Given the description of an element on the screen output the (x, y) to click on. 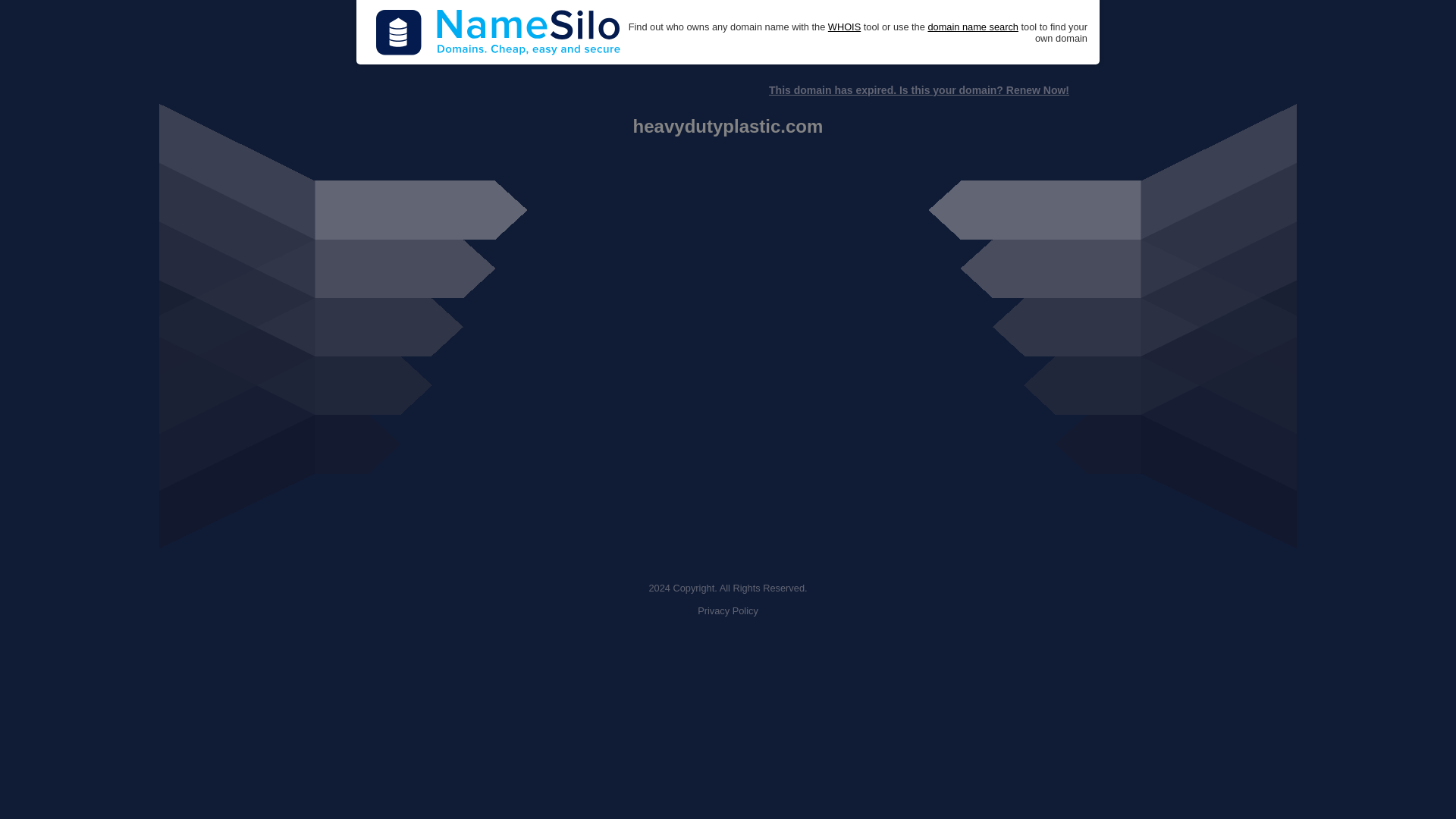
Privacy Policy (727, 610)
This domain has expired. Is this your domain? Renew Now! (918, 90)
domain name search (972, 26)
WHOIS (844, 26)
